Given the description of an element on the screen output the (x, y) to click on. 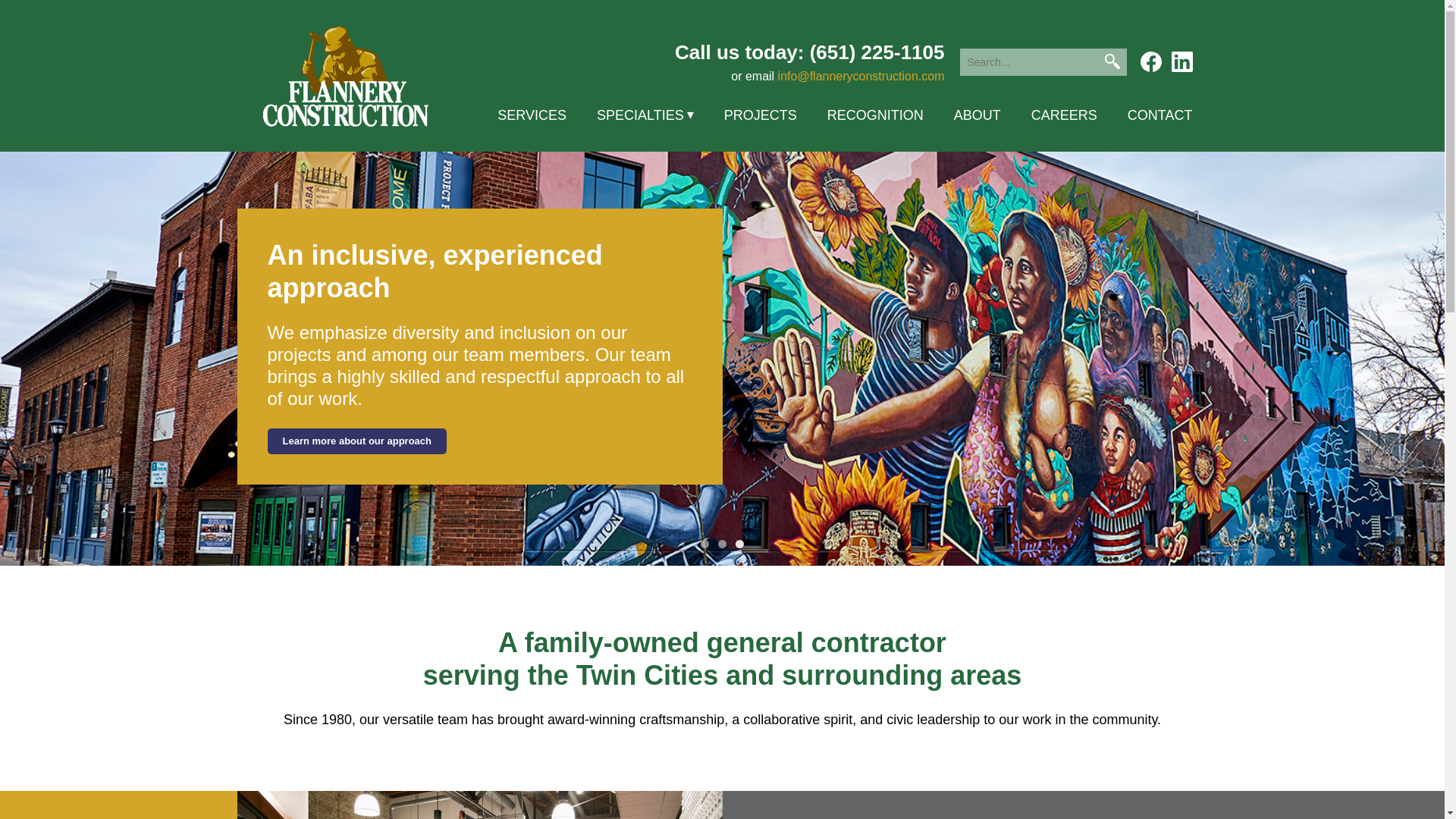
SERVICES (531, 117)
CAREERS (1063, 117)
CONTACT (1159, 117)
PROJECTS (759, 117)
SPECIALTIES (645, 117)
ABOUT (977, 117)
RECOGNITION (875, 117)
3 (739, 543)
2 (721, 543)
Learn more about our approach (355, 441)
1 (704, 543)
